Given the description of an element on the screen output the (x, y) to click on. 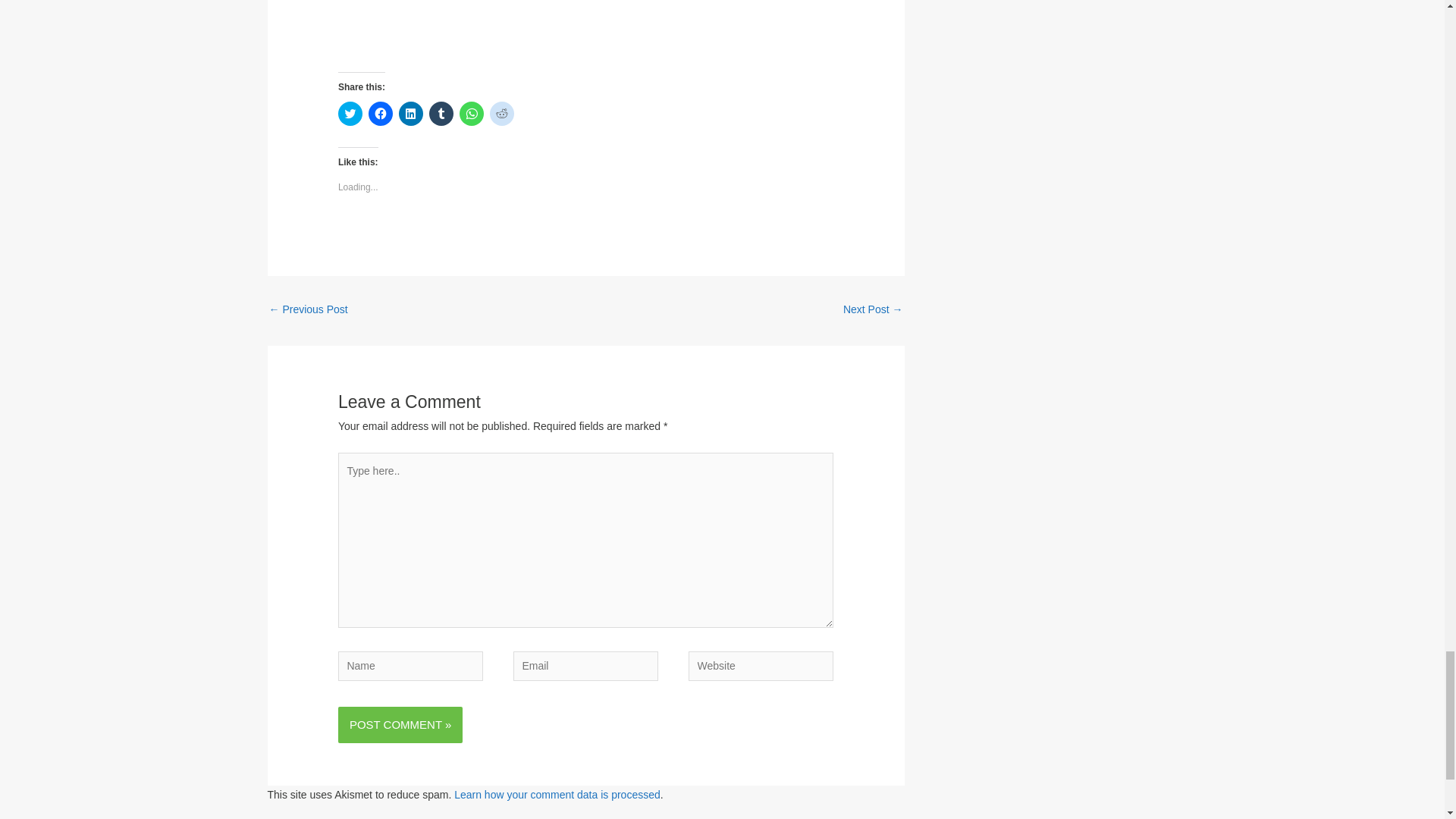
Click to share on WhatsApp (471, 113)
Click to share on Tumblr (440, 113)
Click to share on Twitter (349, 113)
Click to share on Facebook (380, 113)
Click to share on Reddit (501, 113)
Click to share on LinkedIn (410, 113)
Passes to Midsummer Scream on sale this Saturday, March 2 (307, 310)
The Fans are EASE-ing on down the road to see THE WIZ! (584, 36)
